Given the description of an element on the screen output the (x, y) to click on. 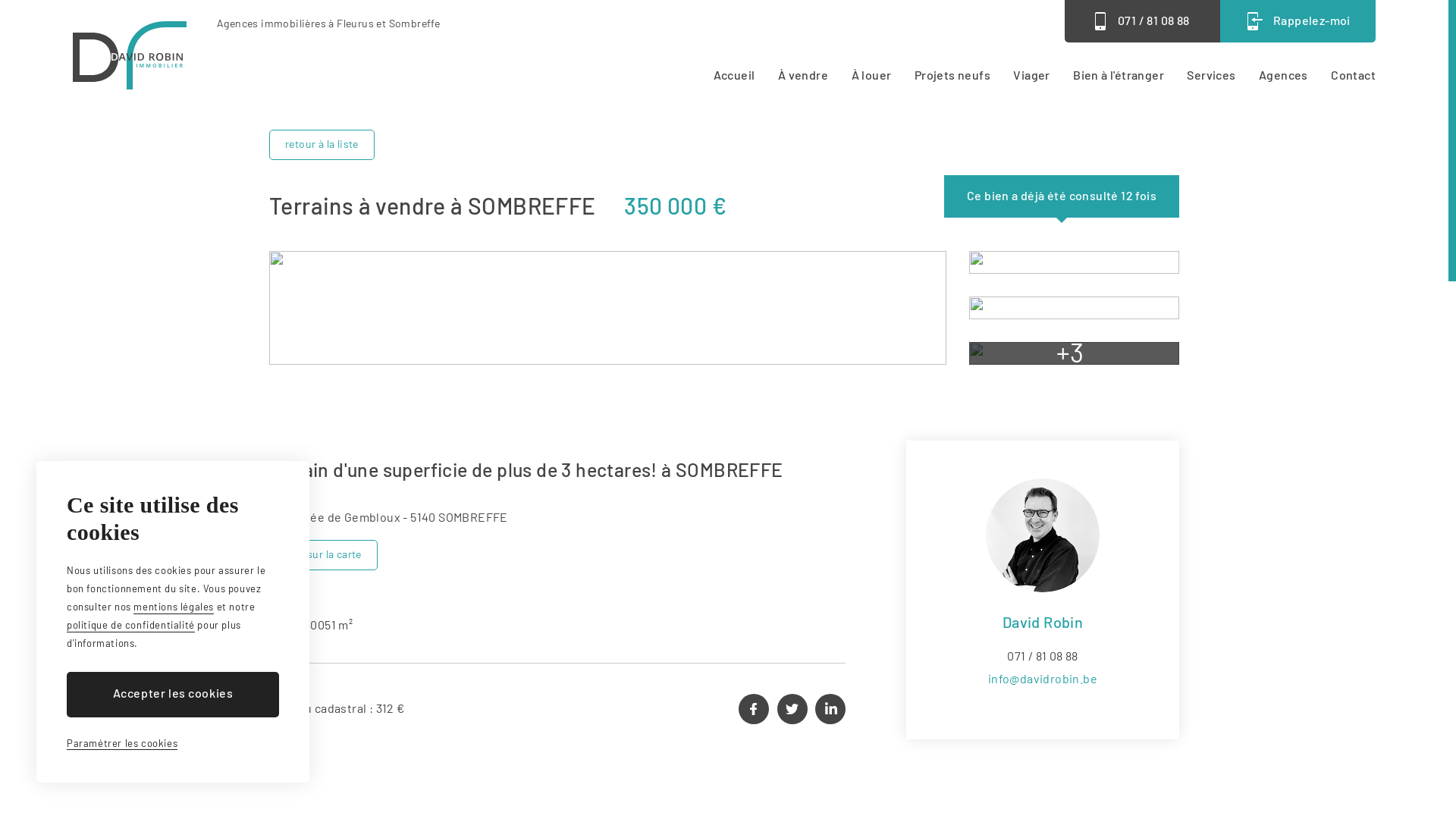
info@davidrobin.be Element type: text (1042, 678)
Viager Element type: text (1031, 76)
Contact Element type: text (1352, 76)
David Robin Element type: hover (129, 55)
071 / 81 08 88 Element type: text (1042, 655)
Accueil Element type: text (734, 76)
LinkedIn Element type: text (830, 708)
voir sur la carte Element type: text (323, 554)
Services Element type: text (1210, 76)
Facebook Element type: text (753, 708)
Agences Element type: text (1283, 76)
071 / 81 08 88 Element type: text (1142, 21)
+3 Element type: text (1074, 353)
Rappelez-moi Element type: text (1297, 21)
Twitter Element type: text (792, 708)
Projets neufs Element type: text (952, 76)
